Given the description of an element on the screen output the (x, y) to click on. 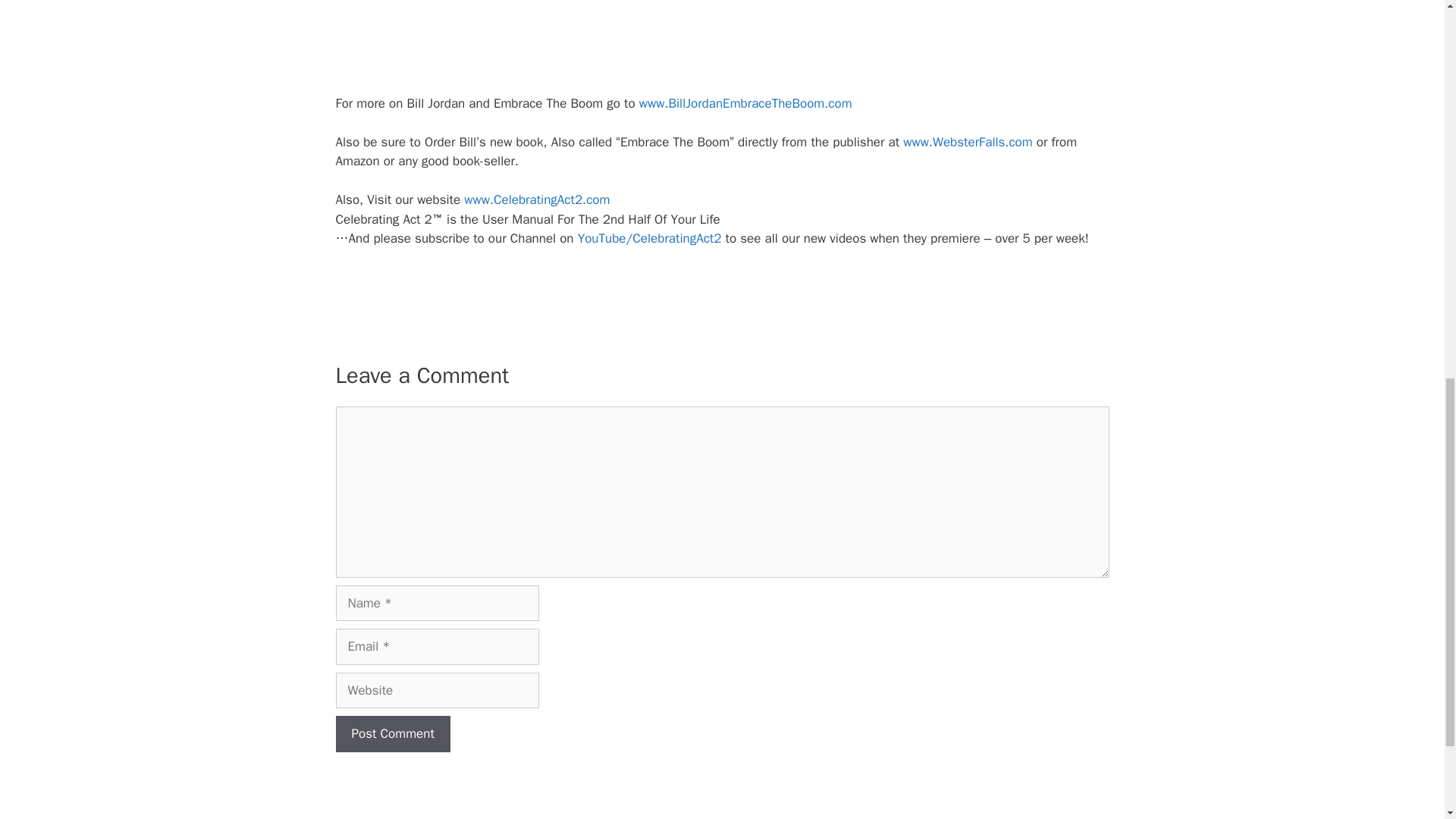
Post Comment (391, 733)
www.BillJordanEmbraceTheBoom.com (745, 103)
Scroll back to top (1406, 720)
Post Comment (391, 733)
www.CelebratingAct2.com (537, 199)
www.WebsterFalls.com (967, 141)
